Given the description of an element on the screen output the (x, y) to click on. 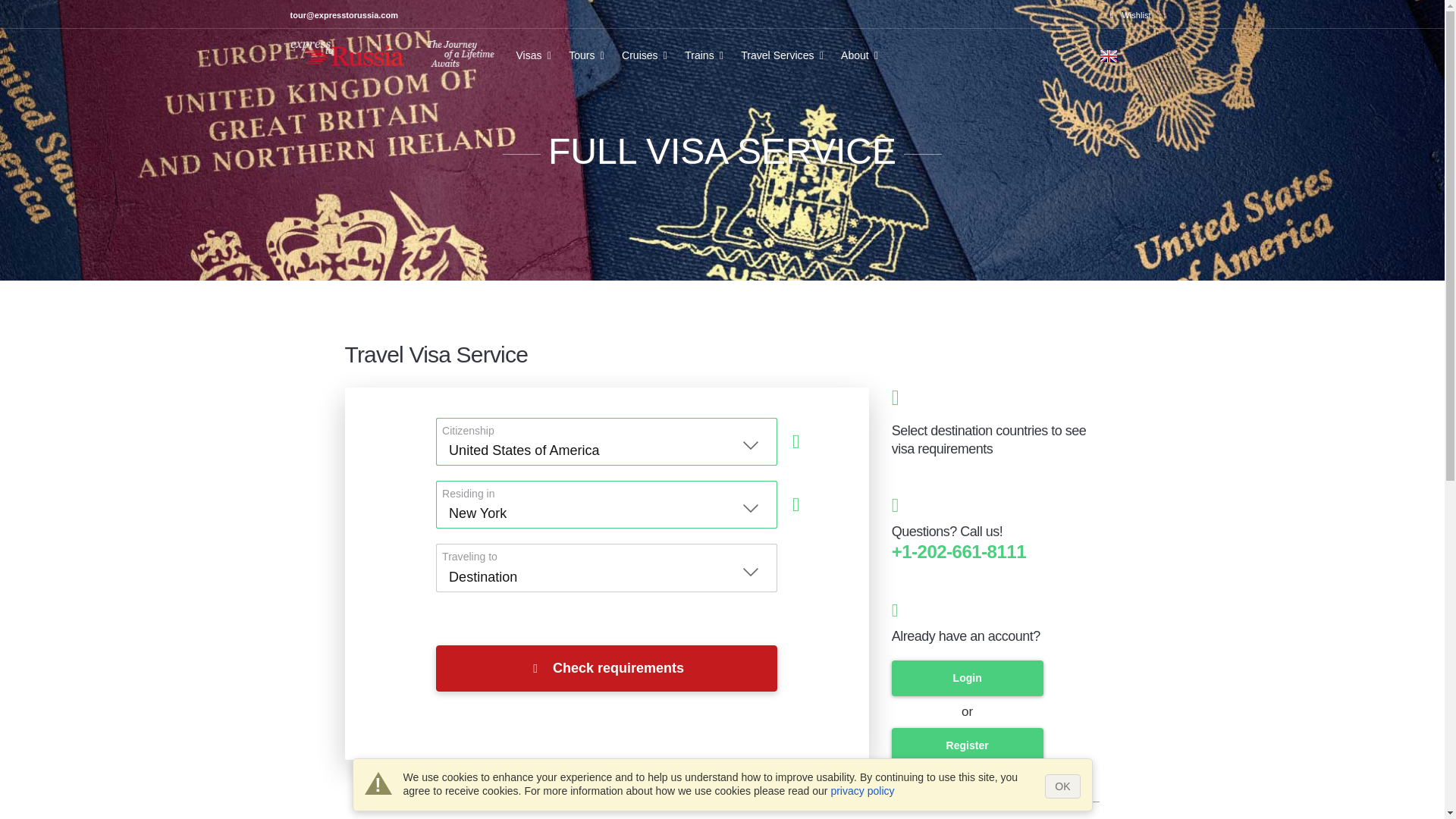
Visas (535, 61)
Tours (588, 61)
Wishlist (1130, 14)
Cruises (646, 61)
Tours (588, 61)
Trains (706, 61)
Visas (535, 61)
